Given the description of an element on the screen output the (x, y) to click on. 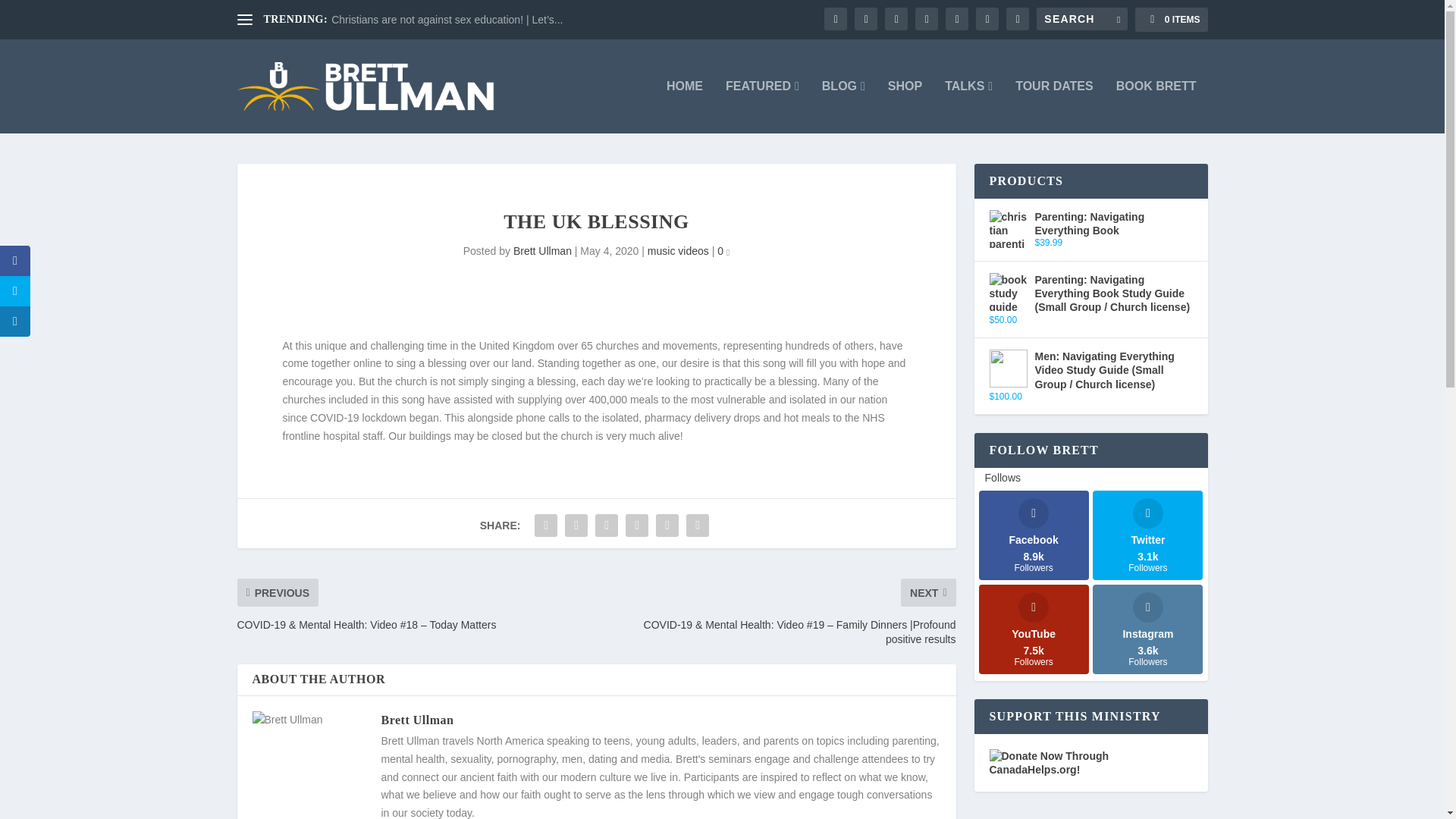
Search for: (1081, 18)
FEATURED (762, 106)
0 ITEMS (1171, 19)
0 Items in Cart (1171, 19)
